Given the description of an element on the screen output the (x, y) to click on. 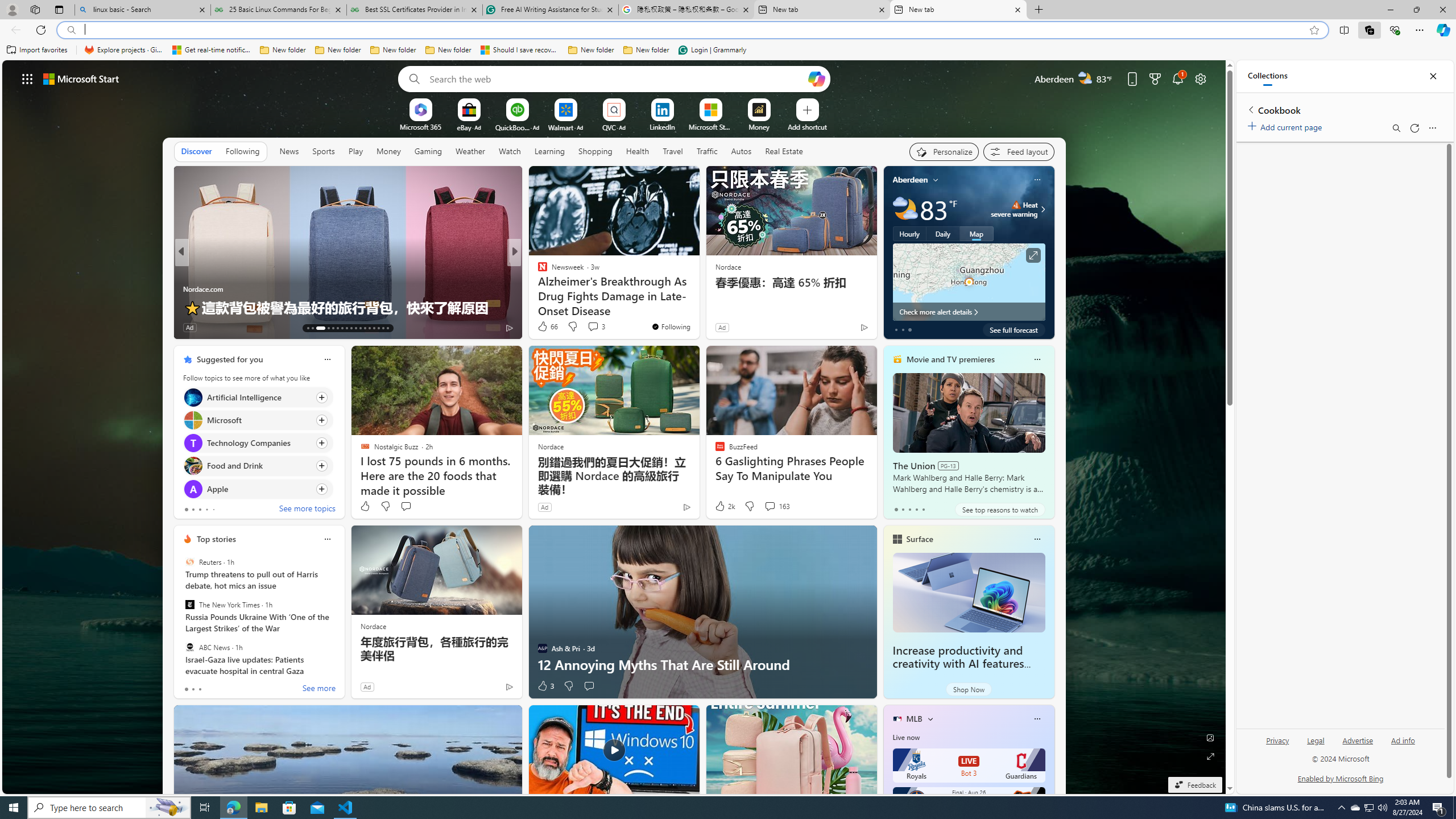
Health (637, 151)
AutomationID: tab-27 (378, 328)
3 Like (545, 685)
Ad info (1402, 740)
AutomationID: tab-16 (324, 328)
tab-2 (199, 689)
More options menu (1432, 127)
Heat - Severe (1015, 204)
Click to follow topic Technology Companies (257, 442)
Gaming (428, 151)
The Weather Channel (537, 270)
Real Estate (783, 151)
TODAY (537, 270)
